Given the description of an element on the screen output the (x, y) to click on. 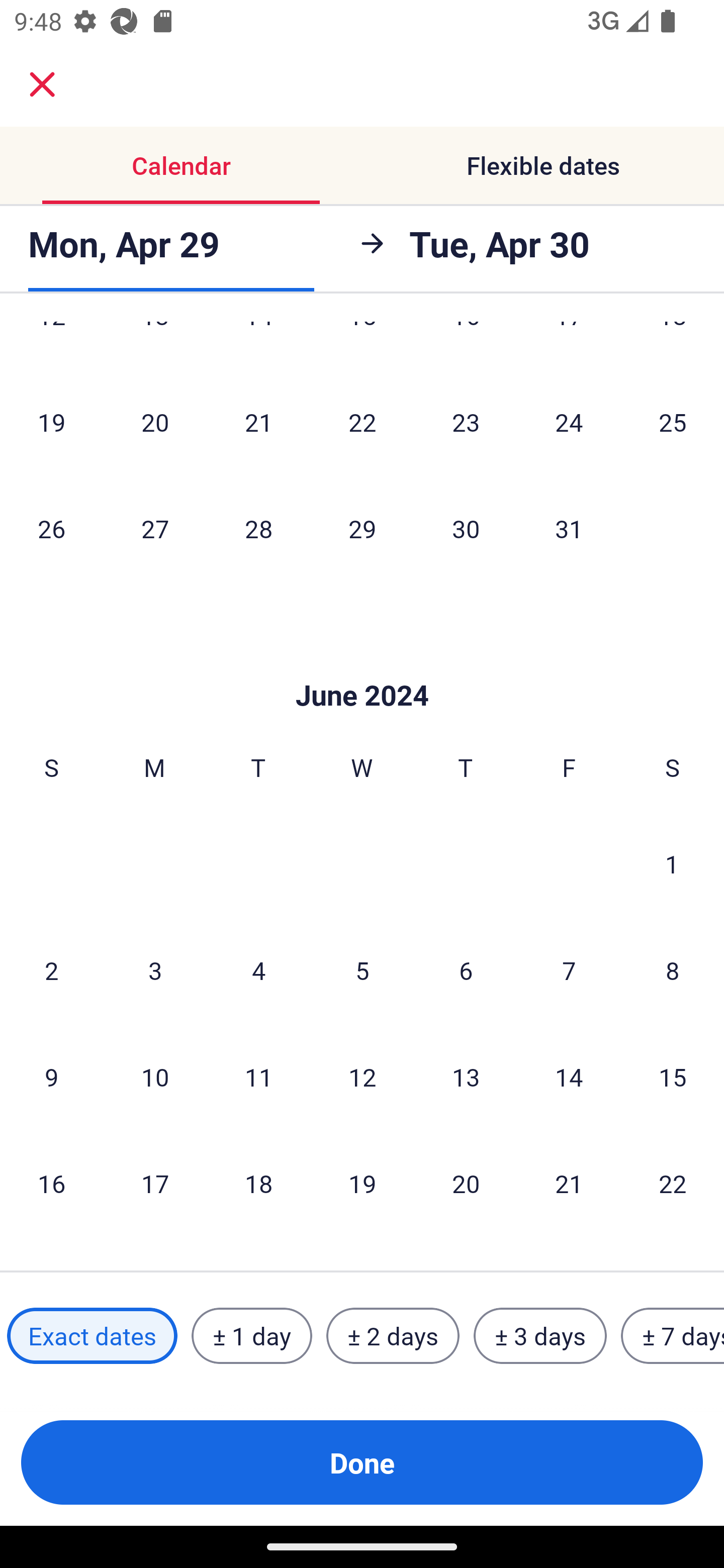
close. (42, 84)
Flexible dates (542, 164)
19 Sunday, May 19, 2024 (51, 421)
20 Monday, May 20, 2024 (155, 421)
21 Tuesday, May 21, 2024 (258, 421)
22 Wednesday, May 22, 2024 (362, 421)
23 Thursday, May 23, 2024 (465, 421)
24 Friday, May 24, 2024 (569, 421)
25 Saturday, May 25, 2024 (672, 421)
26 Sunday, May 26, 2024 (51, 528)
27 Monday, May 27, 2024 (155, 528)
28 Tuesday, May 28, 2024 (258, 528)
29 Wednesday, May 29, 2024 (362, 528)
30 Thursday, May 30, 2024 (465, 528)
31 Friday, May 31, 2024 (569, 528)
Skip to Done (362, 664)
1 Saturday, June 1, 2024 (672, 863)
2 Sunday, June 2, 2024 (51, 970)
3 Monday, June 3, 2024 (155, 970)
4 Tuesday, June 4, 2024 (258, 970)
5 Wednesday, June 5, 2024 (362, 970)
6 Thursday, June 6, 2024 (465, 970)
7 Friday, June 7, 2024 (569, 970)
8 Saturday, June 8, 2024 (672, 970)
9 Sunday, June 9, 2024 (51, 1076)
10 Monday, June 10, 2024 (155, 1076)
11 Tuesday, June 11, 2024 (258, 1076)
12 Wednesday, June 12, 2024 (362, 1076)
13 Thursday, June 13, 2024 (465, 1076)
14 Friday, June 14, 2024 (569, 1076)
15 Saturday, June 15, 2024 (672, 1076)
16 Sunday, June 16, 2024 (51, 1183)
17 Monday, June 17, 2024 (155, 1183)
18 Tuesday, June 18, 2024 (258, 1183)
19 Wednesday, June 19, 2024 (362, 1183)
20 Thursday, June 20, 2024 (465, 1183)
21 Friday, June 21, 2024 (569, 1183)
22 Saturday, June 22, 2024 (672, 1183)
Exact dates (92, 1335)
± 1 day (251, 1335)
± 2 days (392, 1335)
± 3 days (539, 1335)
± 7 days (672, 1335)
Done (361, 1462)
